Given the description of an element on the screen output the (x, y) to click on. 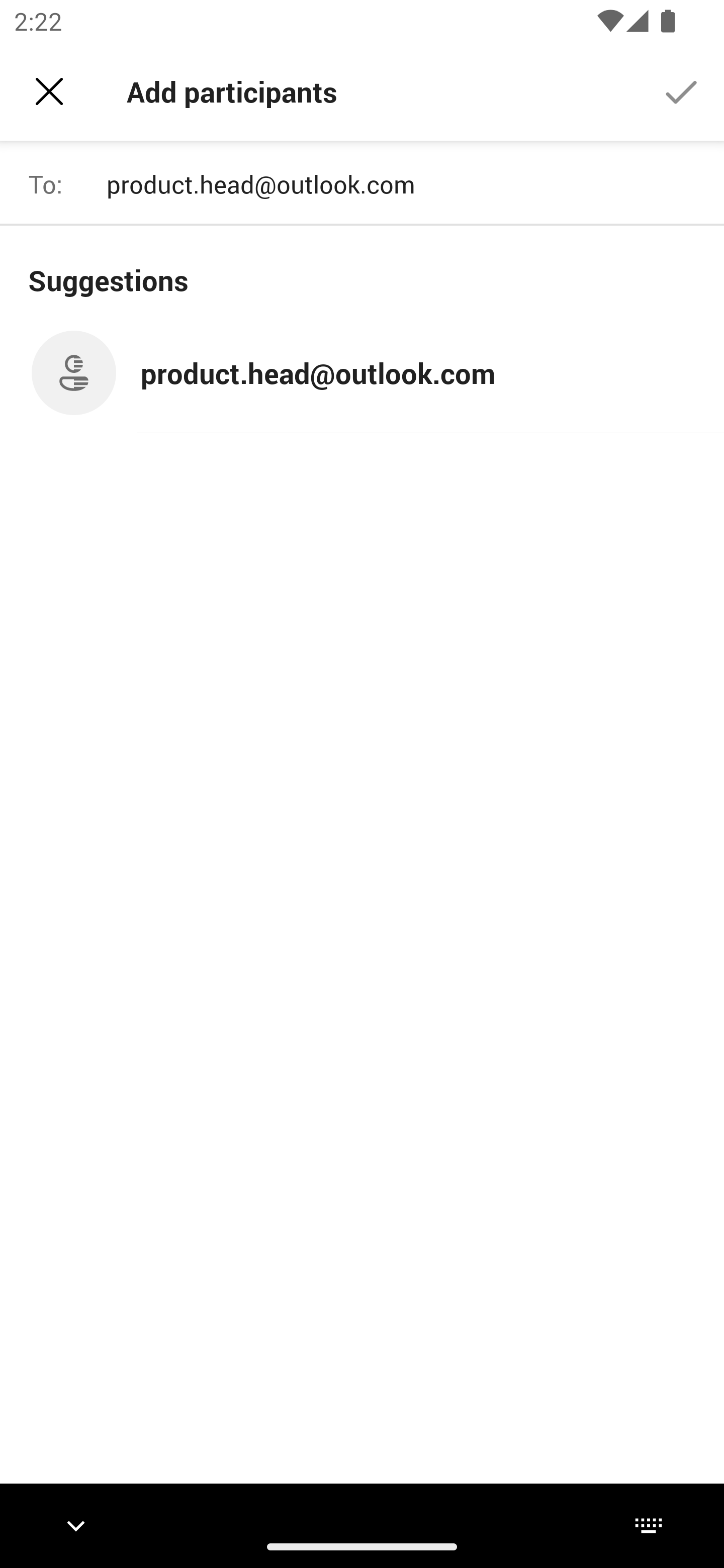
Back (49, 91)
Submit (681, 90)
Add users Type a name or email (407, 184)
